Given the description of an element on the screen output the (x, y) to click on. 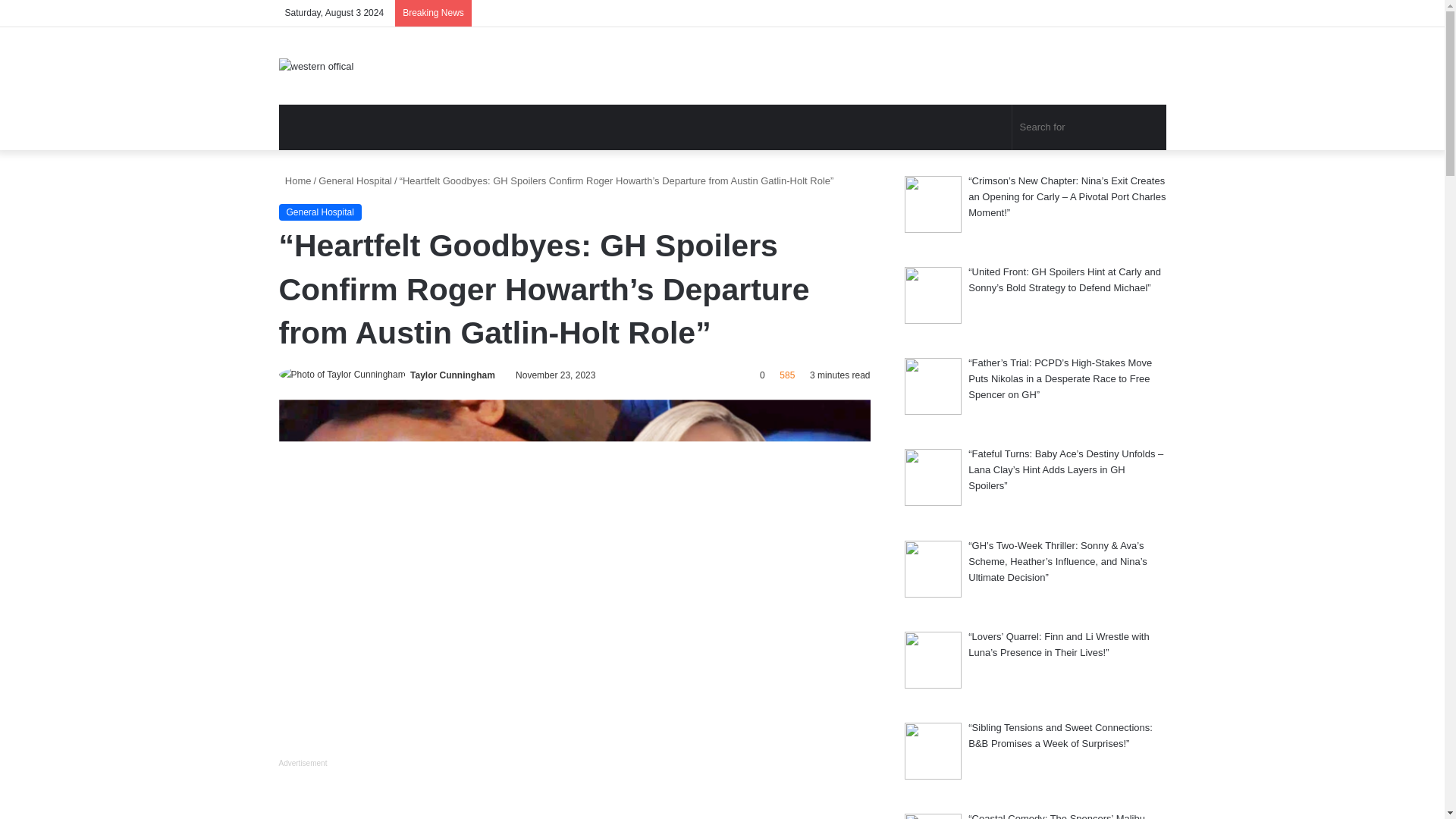
Taylor Cunningham (452, 375)
Search for (1088, 126)
western offical (316, 65)
General Hospital (320, 211)
Home (295, 180)
Taylor Cunningham (452, 375)
General Hospital (354, 180)
